Given the description of an element on the screen output the (x, y) to click on. 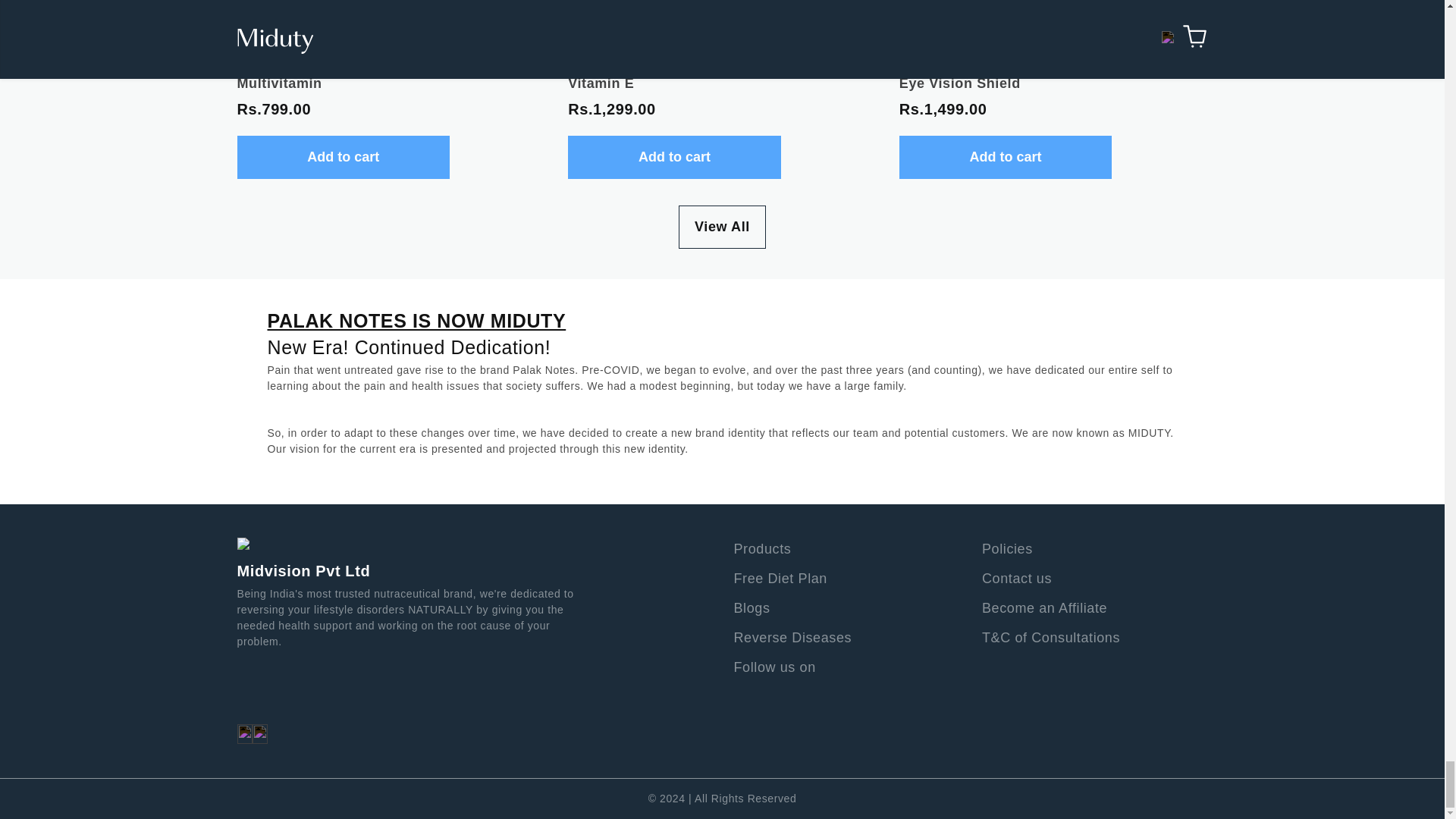
View All (721, 226)
Add to cart (673, 157)
Add to cart (342, 157)
Add to cart (1005, 157)
Products (762, 548)
Free Diet Plan (780, 578)
